Given the description of an element on the screen output the (x, y) to click on. 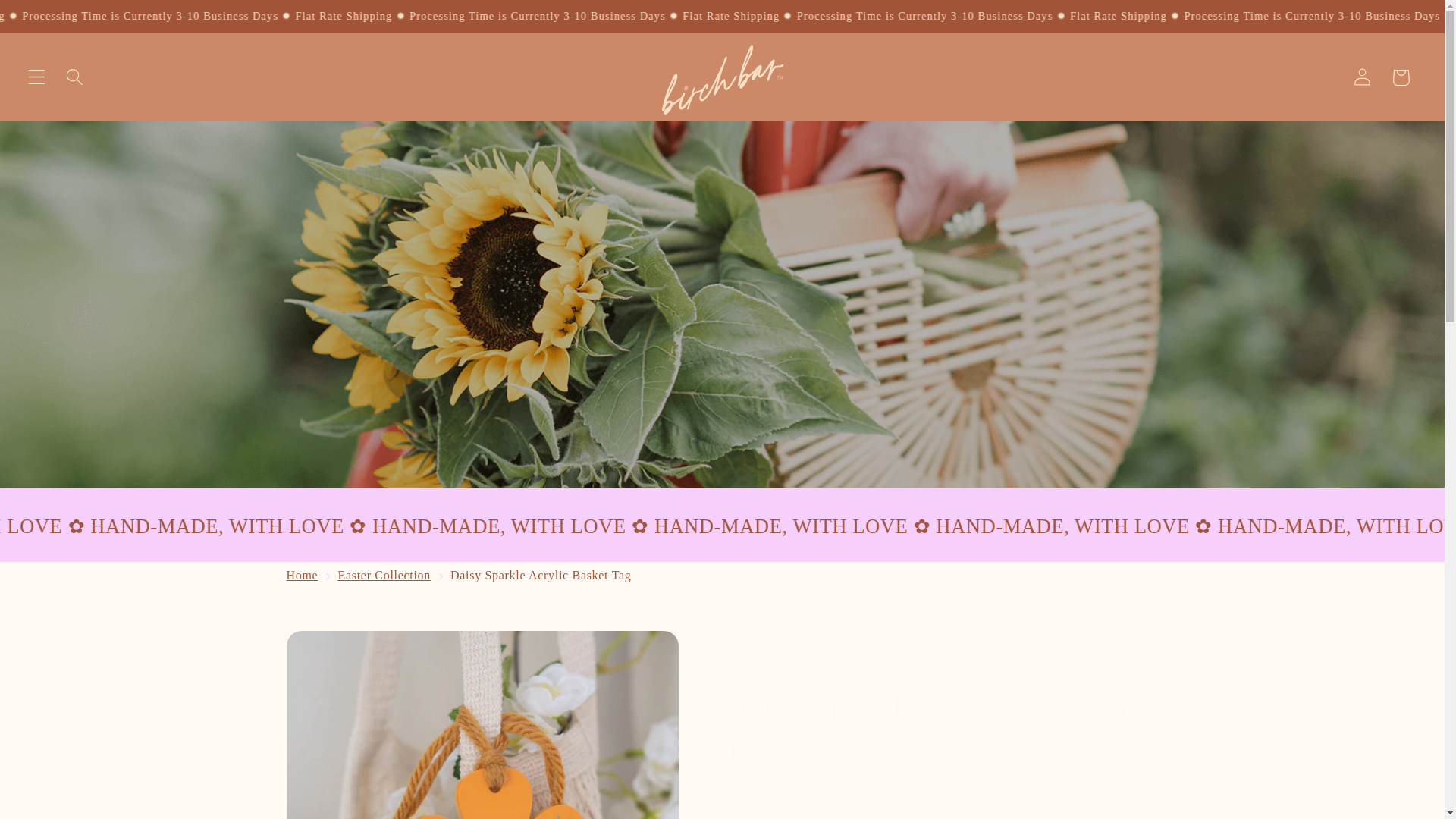
Skip to content (52, 20)
Log in (1362, 77)
Open media 1 in modal (482, 724)
